Given the description of an element on the screen output the (x, y) to click on. 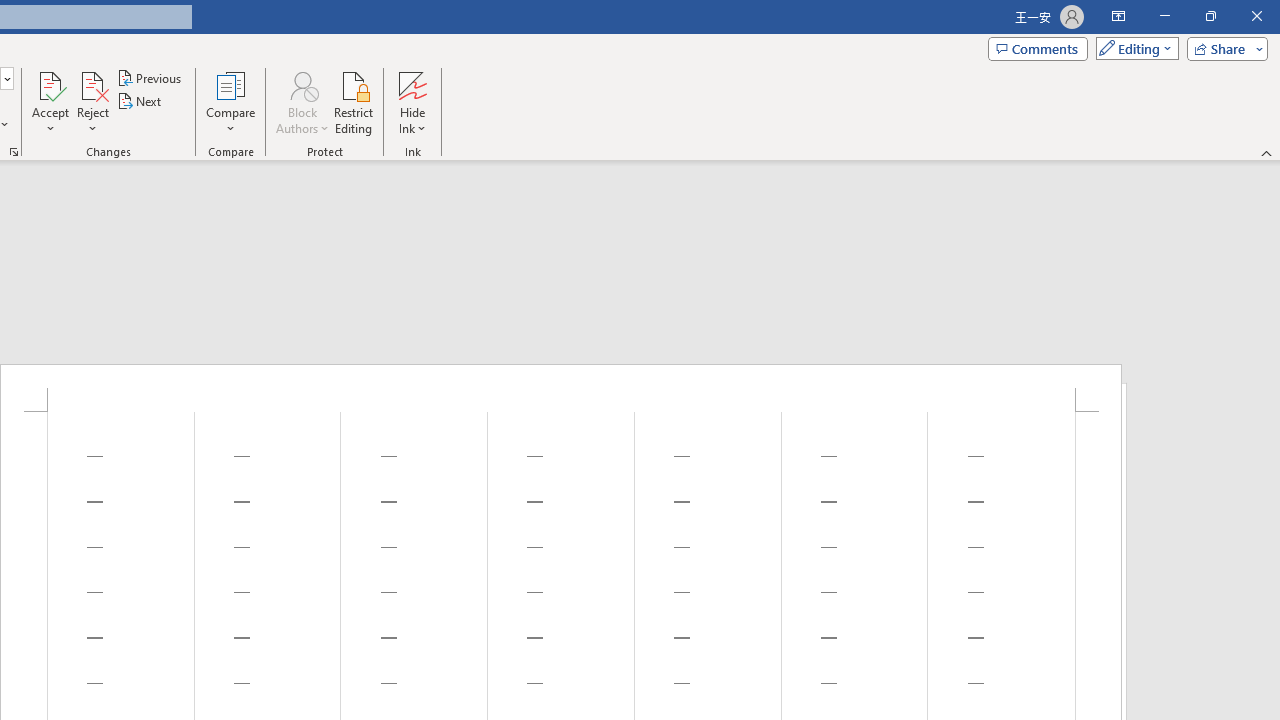
Block Authors (302, 84)
Hide Ink (412, 84)
Block Authors (302, 102)
Next (140, 101)
Accept (50, 102)
Compare (230, 102)
Restrict Editing (353, 102)
